Given the description of an element on the screen output the (x, y) to click on. 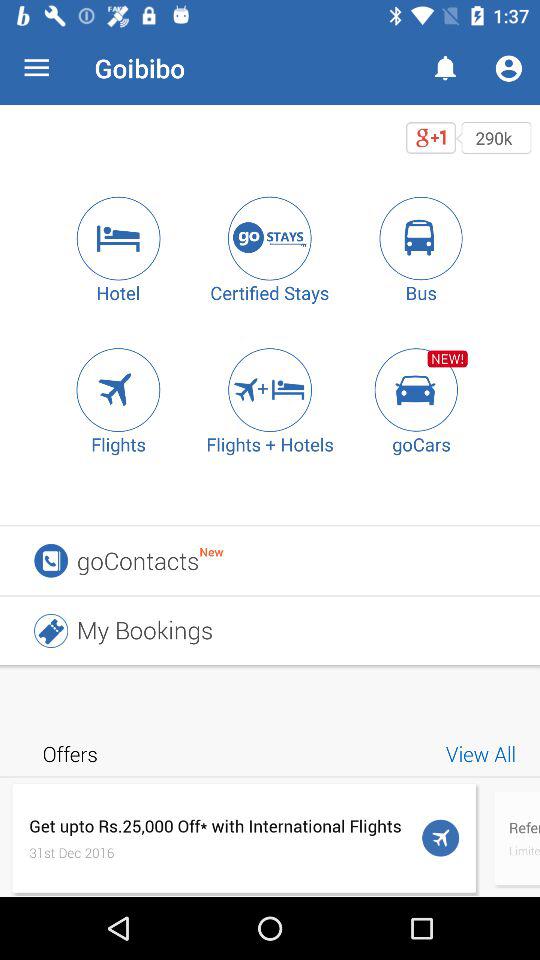
open the item next to flights + hotels icon (118, 389)
